Given the description of an element on the screen output the (x, y) to click on. 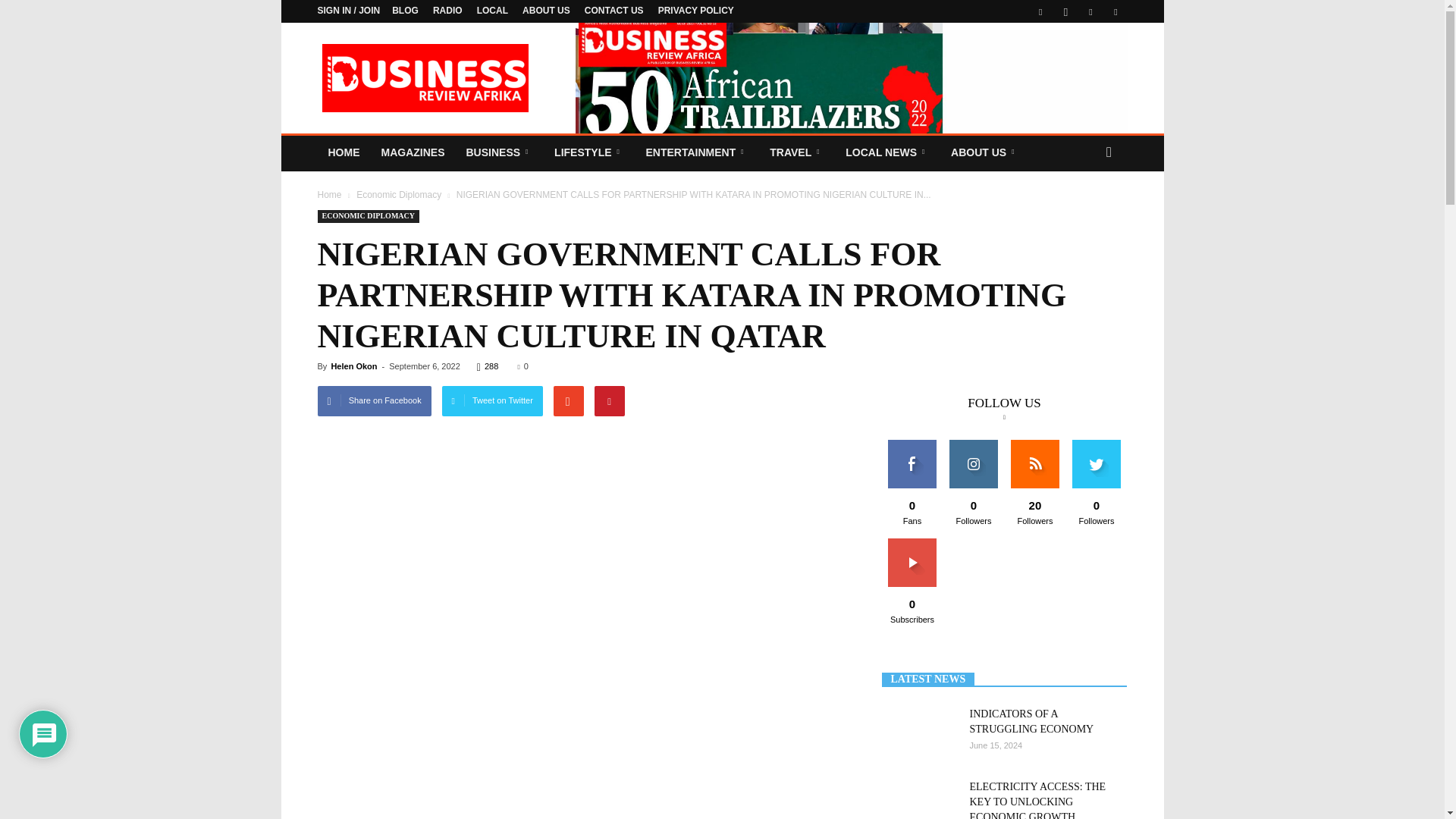
ABOUT US (546, 9)
LOCAL (492, 9)
RADIO (447, 9)
Twitter (1090, 11)
Instagram (1065, 11)
CONTACT US (614, 9)
BLOG (405, 9)
Youtube (1114, 11)
Facebook (1040, 11)
